Given the description of an element on the screen output the (x, y) to click on. 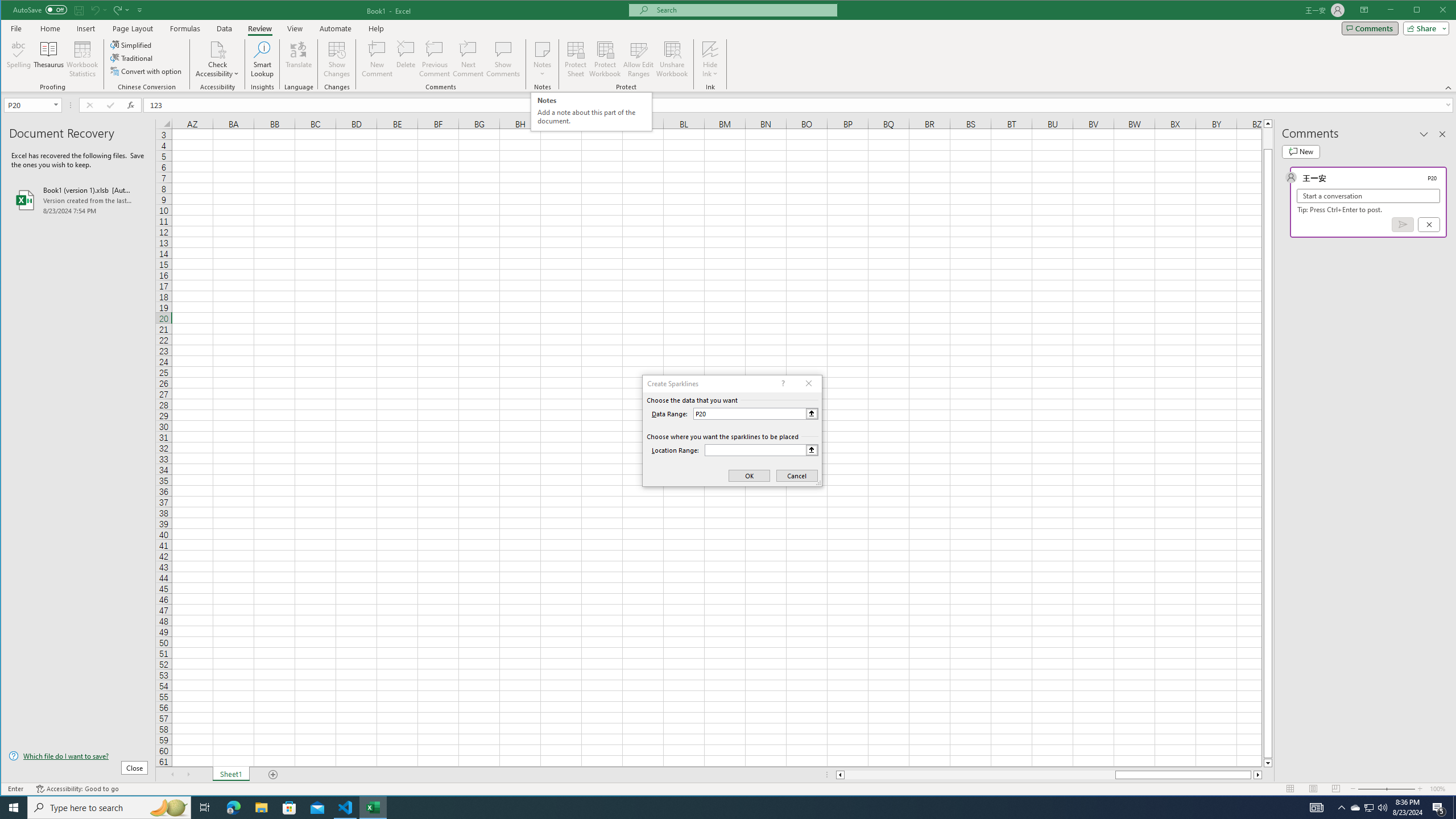
Maximize (1432, 11)
Spelling... (18, 59)
Previous Comment (434, 59)
Translate (298, 59)
Show Comments (502, 59)
Hide Ink (710, 48)
New comment (1300, 151)
Start a conversation (1368, 195)
Protect Sheet... (575, 59)
